Given the description of an element on the screen output the (x, y) to click on. 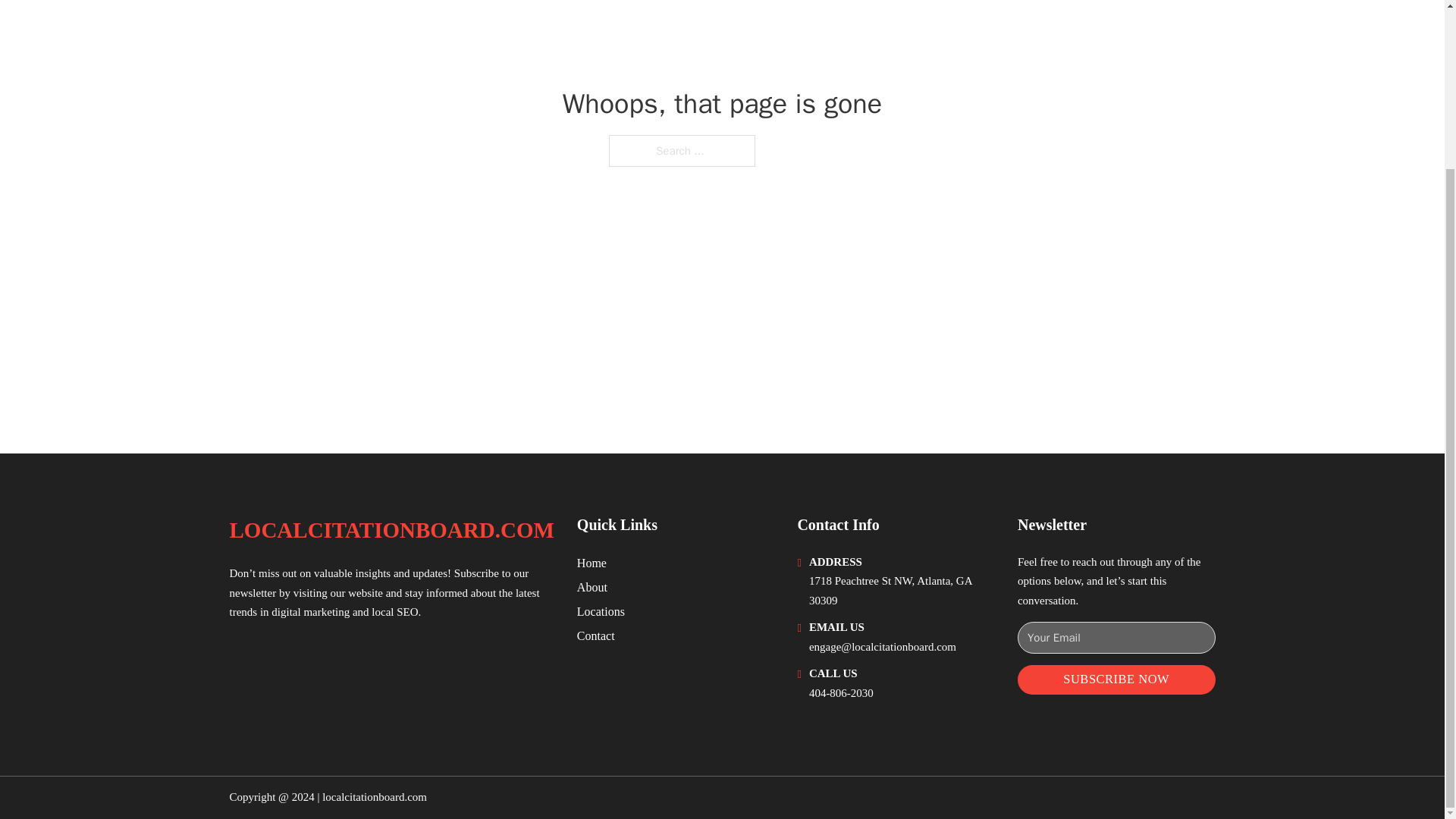
Contact (595, 635)
SUBSCRIBE NOW (1116, 679)
Home (591, 562)
LOCALCITATIONBOARD.COM (390, 529)
Locations (600, 611)
About (591, 587)
404-806-2030 (841, 693)
